Given the description of an element on the screen output the (x, y) to click on. 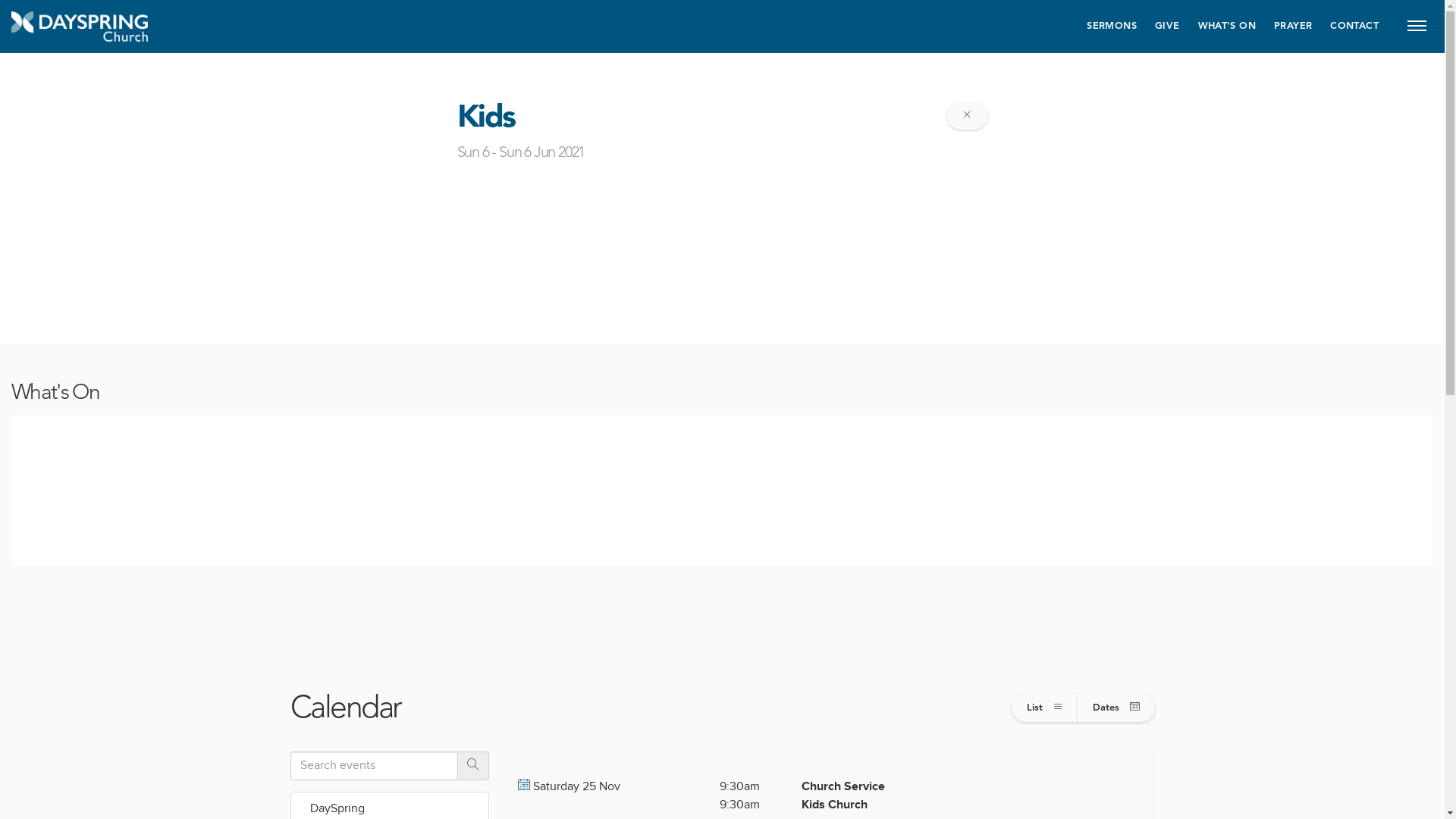
List Element type: text (1044, 707)
PRAYER Element type: text (1292, 26)
CONTACT Element type: text (1354, 26)
Kids Church Element type: text (834, 804)
Dates Element type: text (1115, 707)
SERMONS Element type: text (1111, 26)
WHAT'S ON Element type: text (1226, 26)
Church Service Element type: text (842, 786)
GIVE Element type: text (1167, 26)
